Given the description of an element on the screen output the (x, y) to click on. 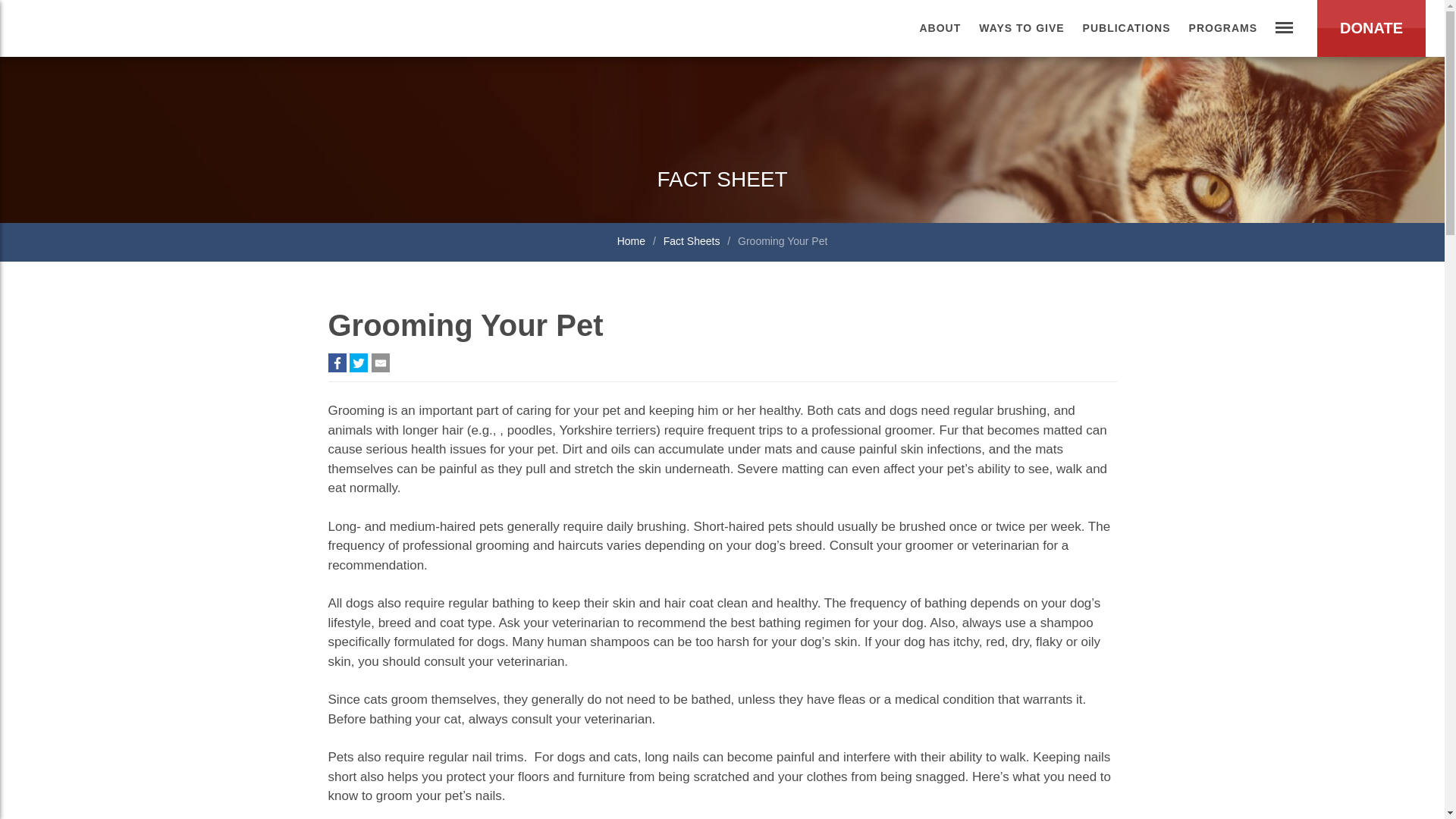
icon-email (380, 362)
PROGRAMS (1222, 28)
icon-facebook (336, 363)
ABOUT (939, 28)
Go to Fact Sheets (693, 241)
icon-email (380, 363)
PUBLICATIONS (1126, 28)
Go to Home (632, 241)
Fact Sheets (693, 241)
icon-twitter (358, 363)
DONATE (1371, 28)
Home (632, 241)
icon-twitter (358, 362)
icon-facebook (336, 362)
WAYS TO GIVE (1021, 28)
